Given the description of an element on the screen output the (x, y) to click on. 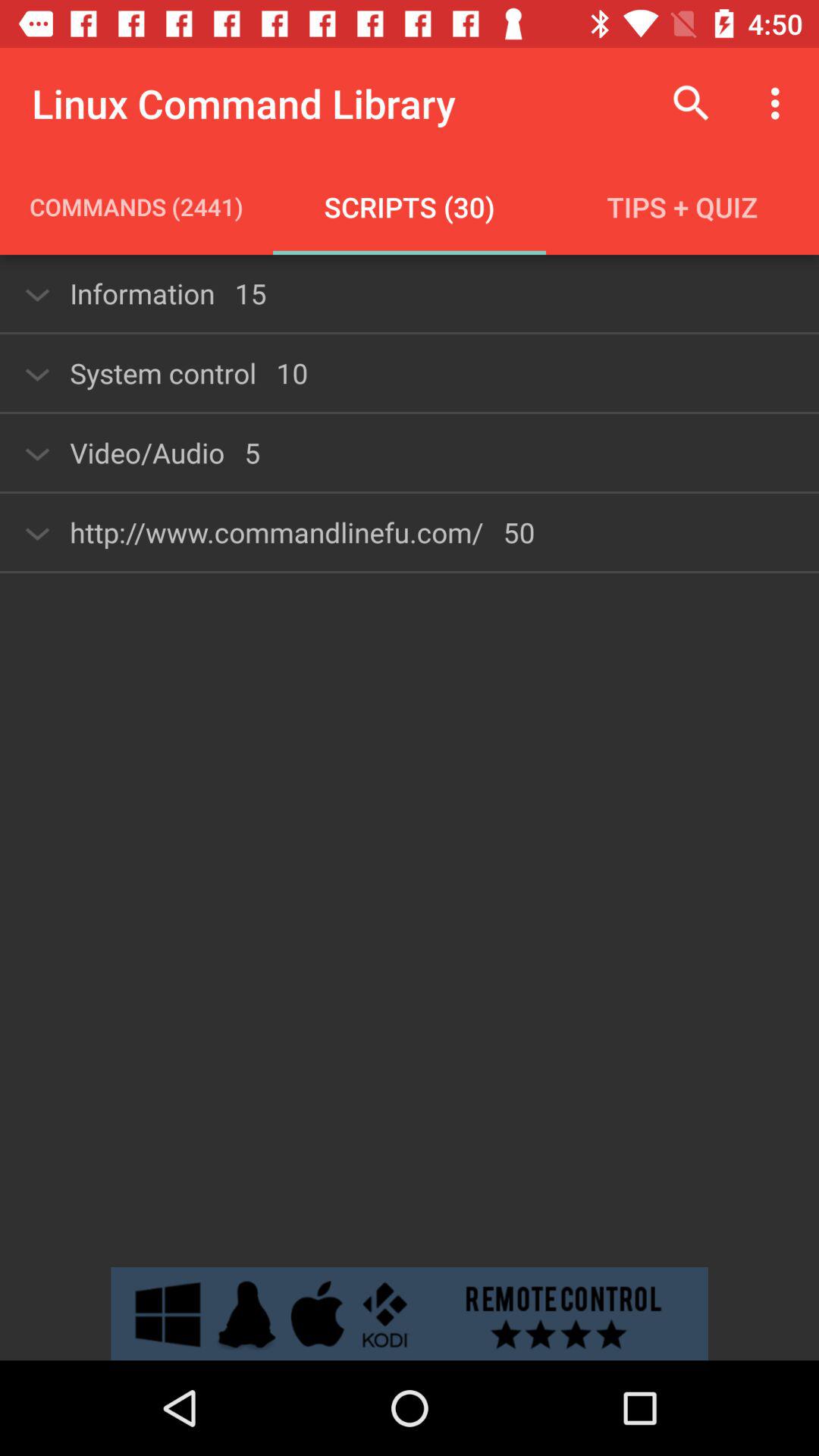
open icon above the tips + quiz icon (691, 103)
